Given the description of an element on the screen output the (x, y) to click on. 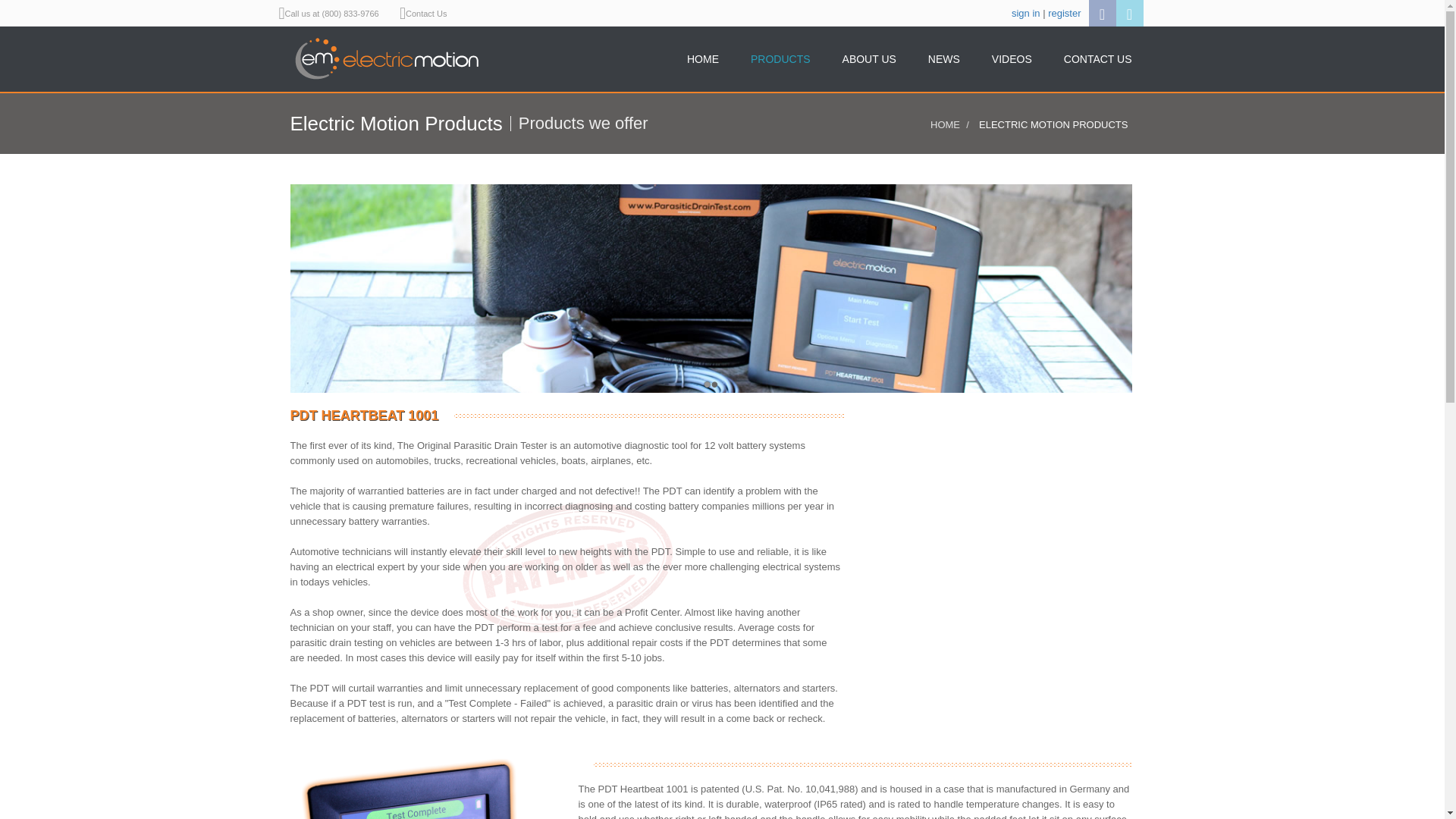
HOME (707, 56)
NEWS (948, 56)
HOME (944, 124)
Distributor registration (1064, 12)
Twitter (1129, 13)
VIDEOS (1016, 56)
sign in (1026, 12)
PRODUCTS (785, 56)
Phone (335, 13)
ABOUT US (874, 56)
Contact Us (426, 13)
Contact Us (426, 13)
register (1064, 12)
Facebook (1102, 13)
CONTACT US (1098, 56)
